Given the description of an element on the screen output the (x, y) to click on. 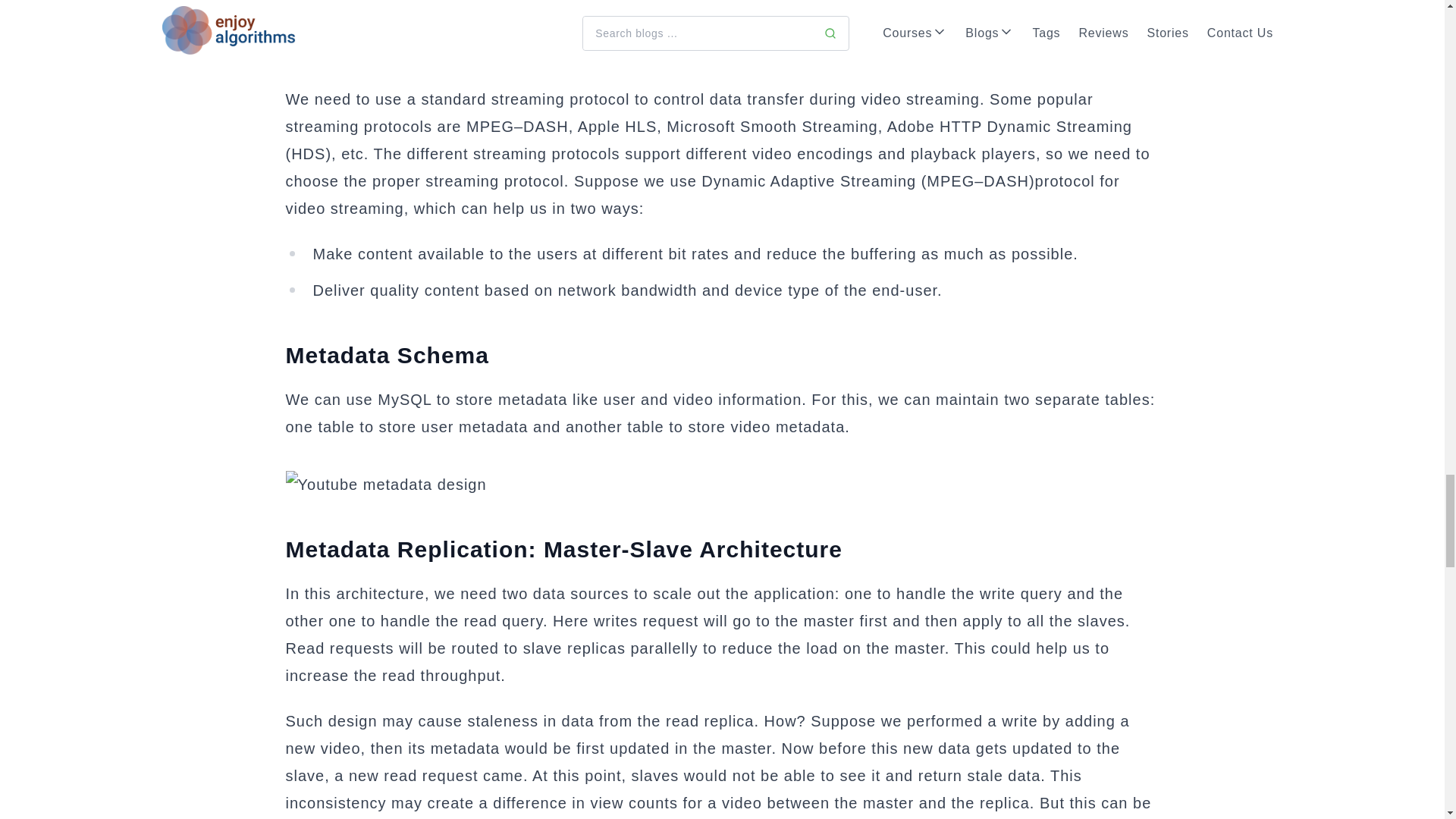
Youtube database design (721, 483)
